Given the description of an element on the screen output the (x, y) to click on. 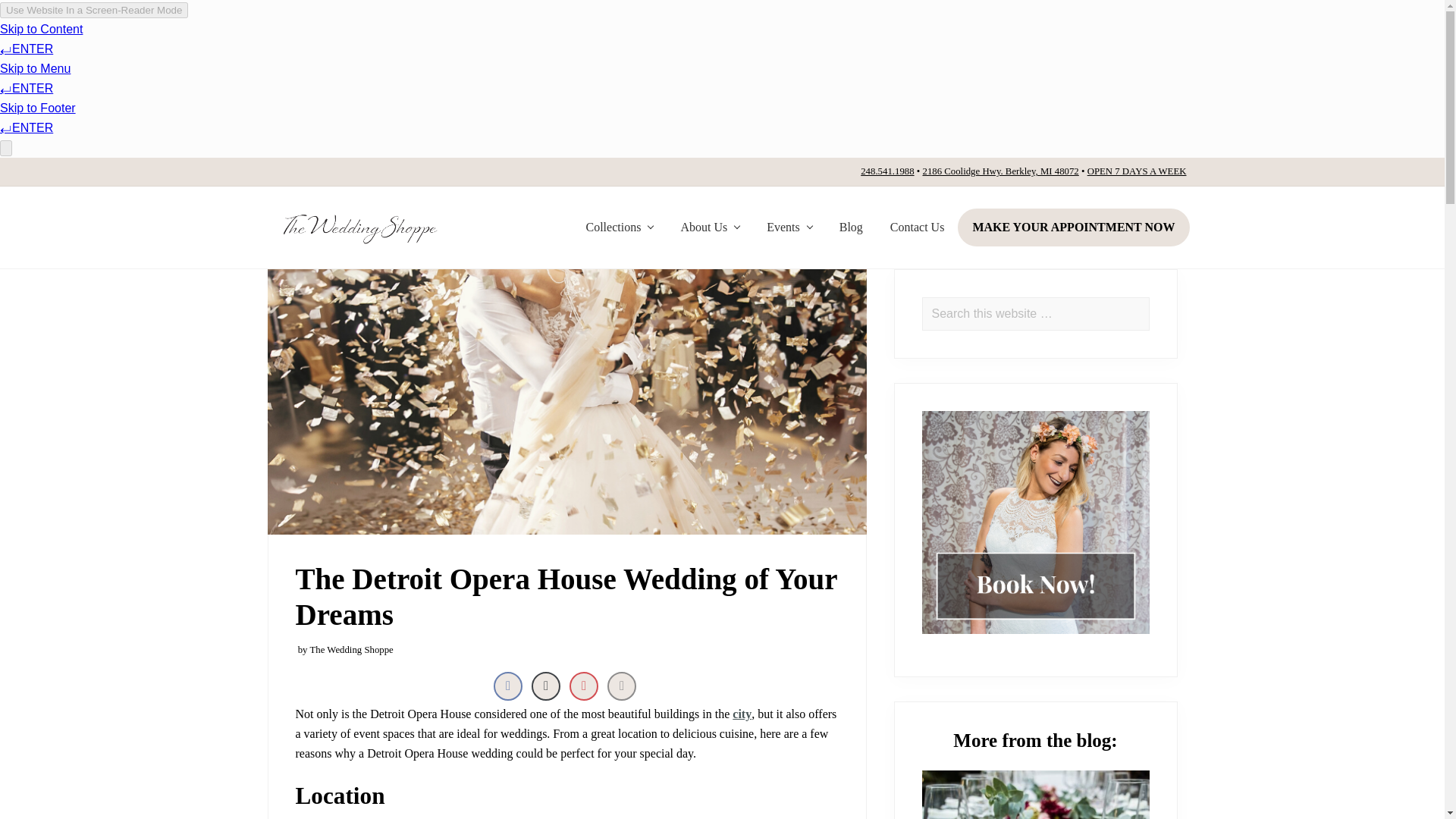
Blog (851, 227)
248.541.1988 (887, 171)
Collections (619, 227)
OPEN 7 DAYS A WEEK (1136, 171)
2186 Coolidge Hwy. Berkley, MI 48072 (999, 171)
MAKE YOUR APPOINTMENT NOW (1073, 227)
Contact Us (916, 227)
About Us (709, 227)
Events (789, 227)
